Given the description of an element on the screen output the (x, y) to click on. 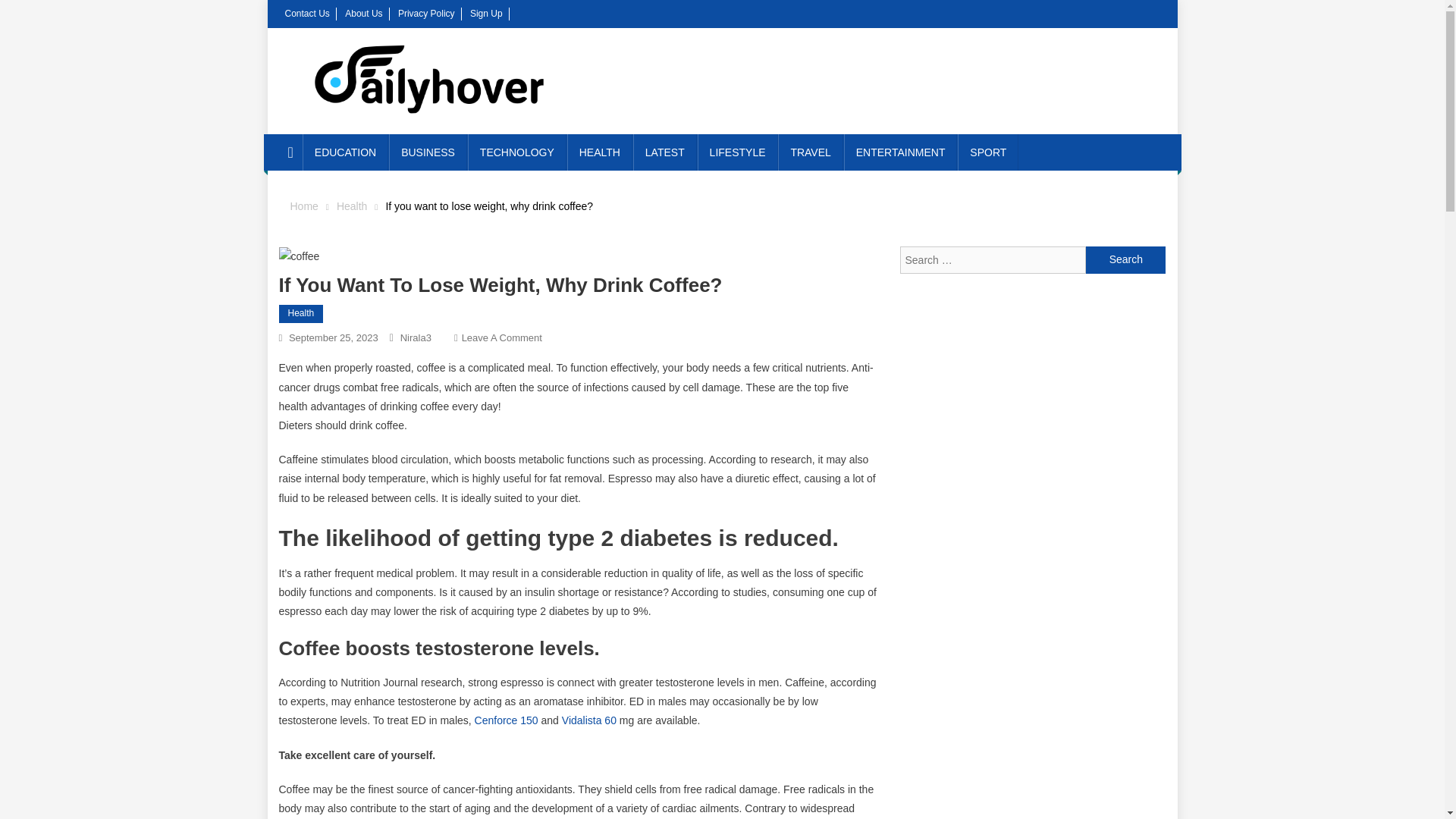
ENTERTAINMENT (901, 152)
HEALTH (599, 152)
Contact Us (307, 13)
SPORT (987, 152)
About Us (363, 13)
Health (351, 205)
LATEST (665, 152)
TRAVEL (810, 152)
September 25, 2023 (333, 337)
Home (303, 205)
Privacy Policy (425, 13)
LIFESTYLE (737, 152)
Search (1126, 259)
Nirala3 (415, 337)
